Given the description of an element on the screen output the (x, y) to click on. 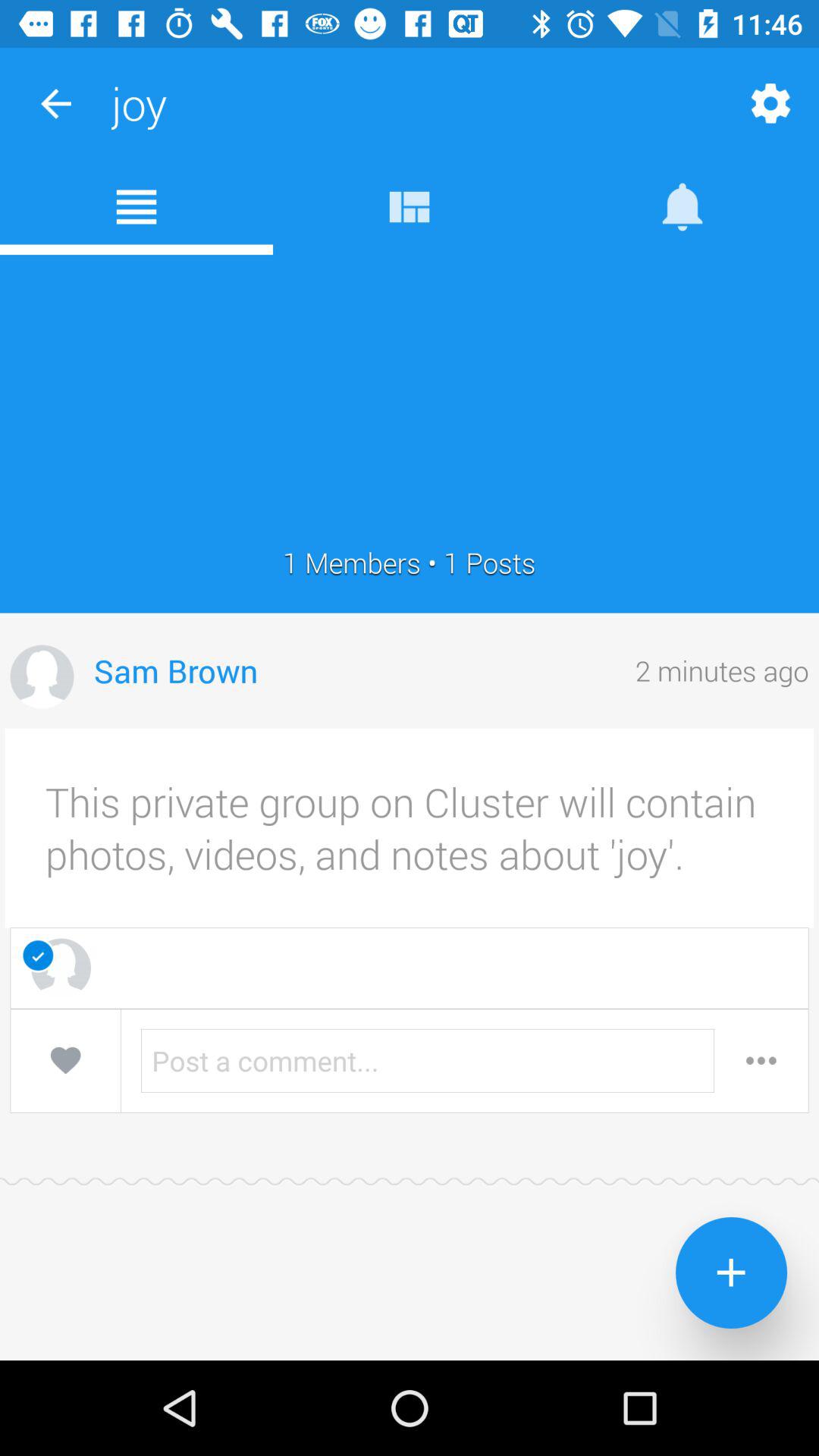
see your profile (41, 676)
